Given the description of an element on the screen output the (x, y) to click on. 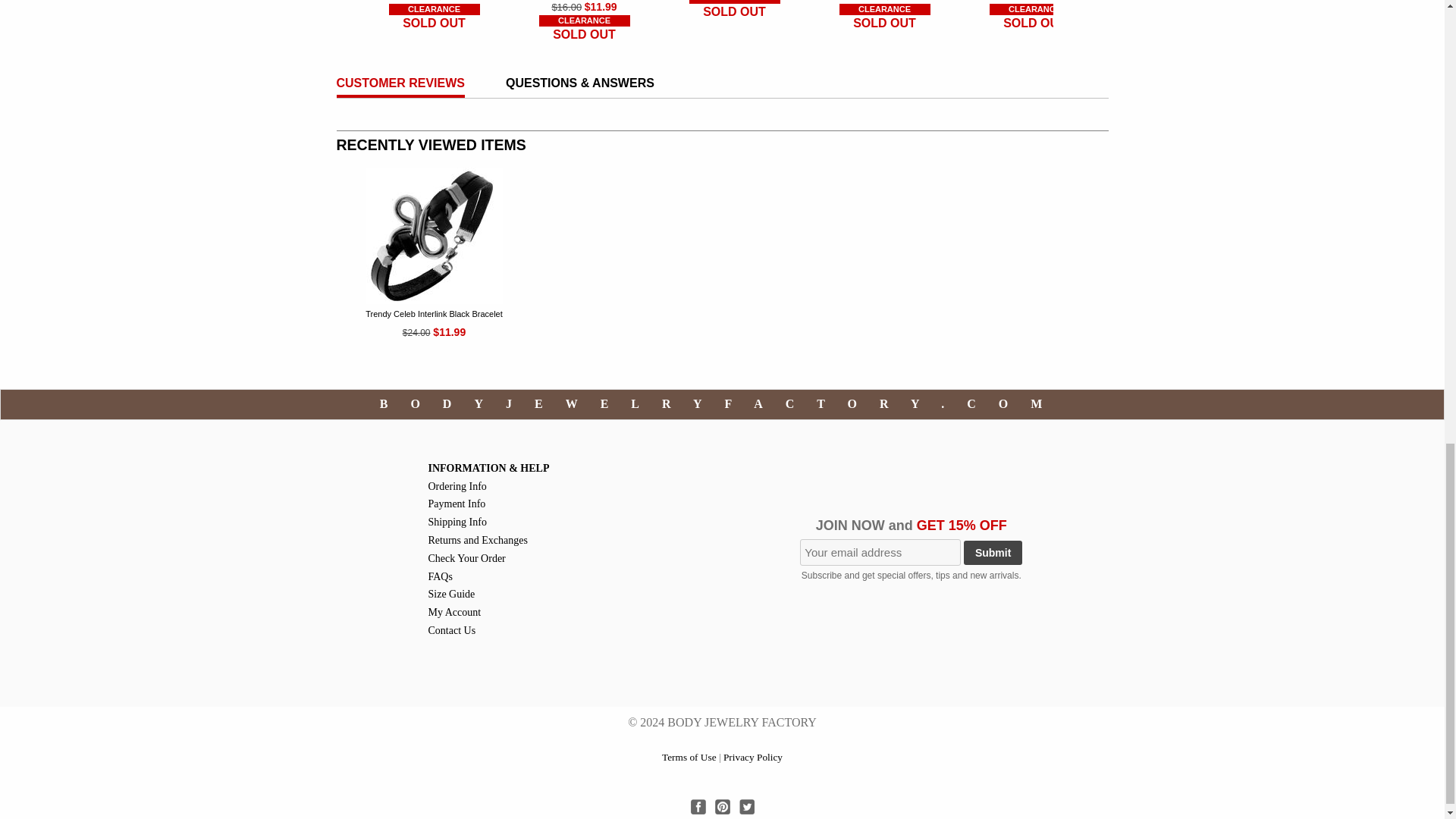
facebook (697, 806)
pinterest (721, 806)
twitter (746, 806)
